Given the description of an element on the screen output the (x, y) to click on. 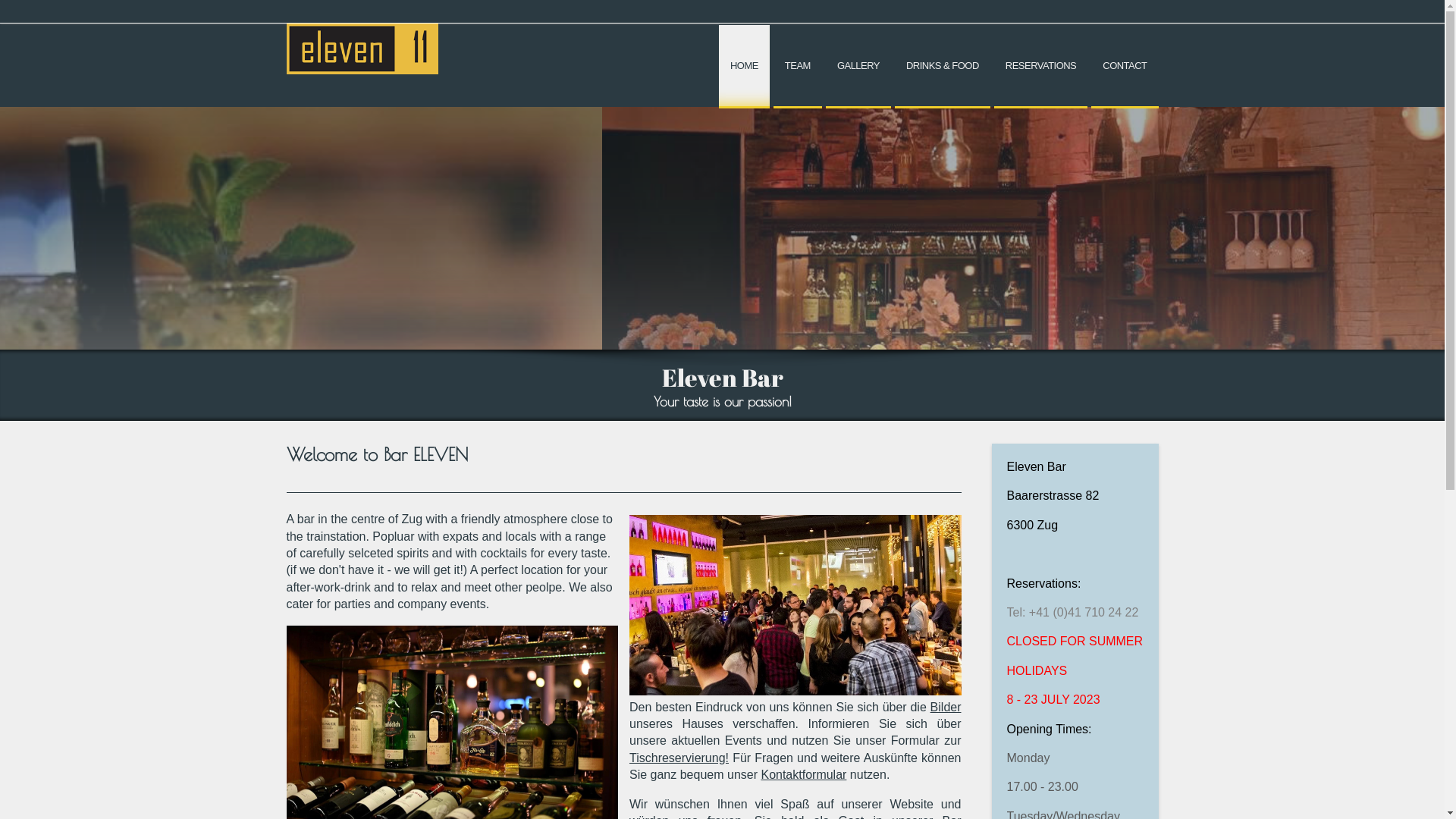
HOME Element type: text (743, 66)
TEAM Element type: text (797, 66)
CONTACT Element type: text (1124, 66)
Tischreservierung! Element type: text (678, 757)
Bilder Element type: text (945, 706)
DRINKS & FOOD Element type: text (942, 66)
RESERVATIONS Element type: text (1040, 66)
Kontaktformular Element type: text (803, 774)
GALLERY Element type: text (858, 66)
